Given the description of an element on the screen output the (x, y) to click on. 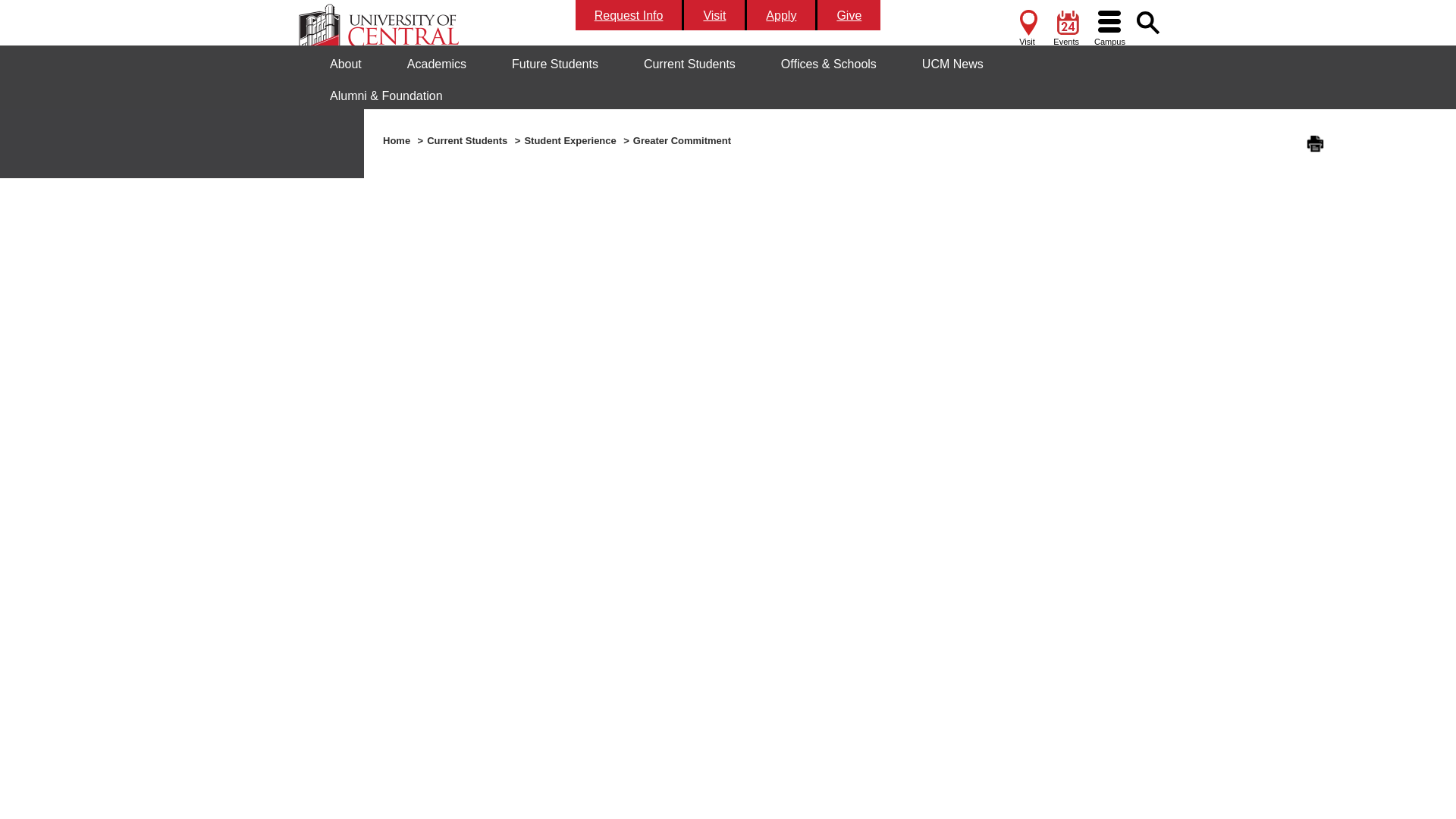
Visit    (1026, 25)
Apply (781, 15)
Visit (715, 15)
Apply to UCM (781, 15)
Request Info (629, 15)
Give (848, 15)
Academics (436, 63)
Visit UCM (715, 15)
Academics (436, 63)
About (345, 63)
